Given the description of an element on the screen output the (x, y) to click on. 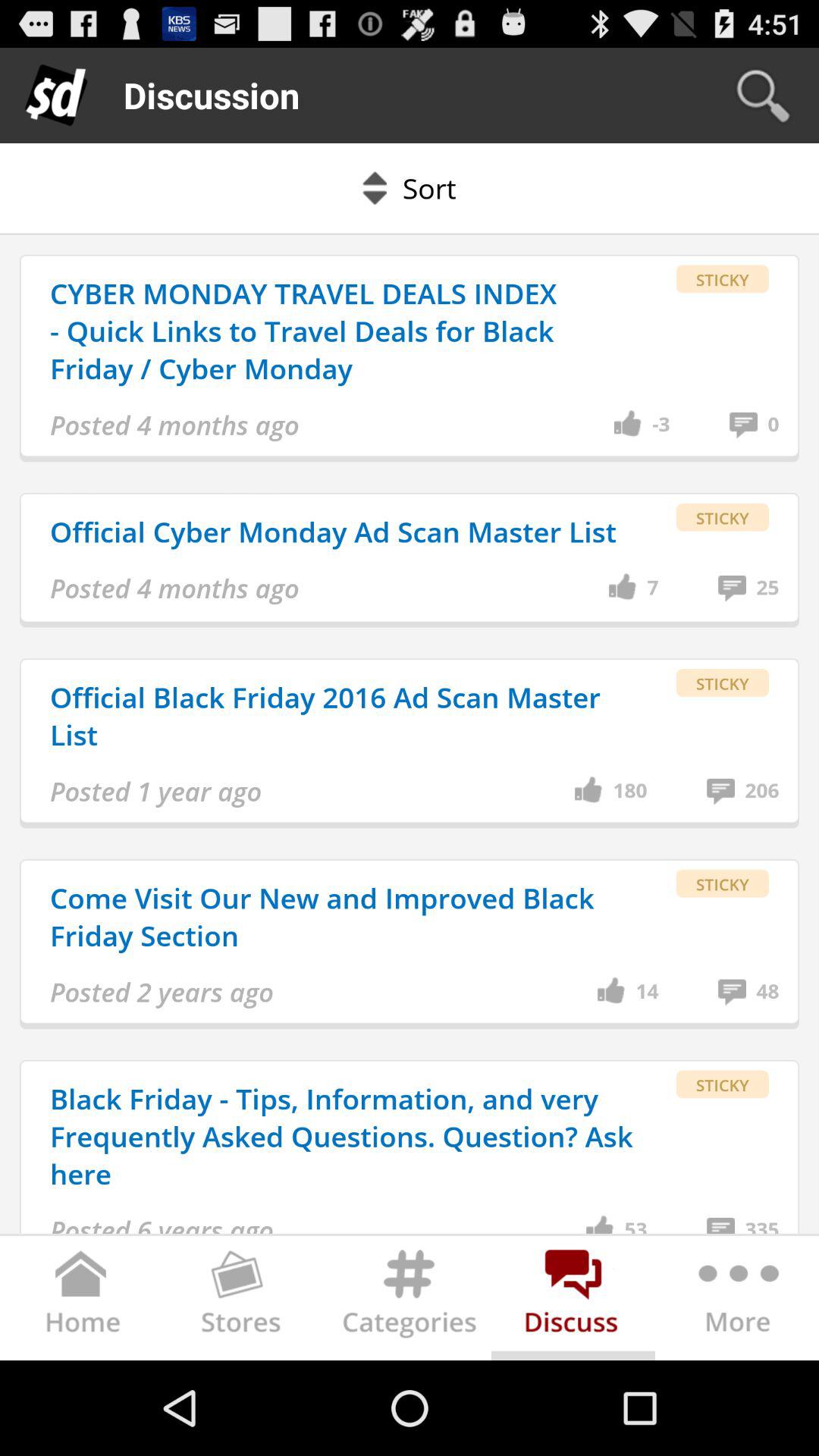
this enable the discuss options for chat (573, 1301)
